Given the description of an element on the screen output the (x, y) to click on. 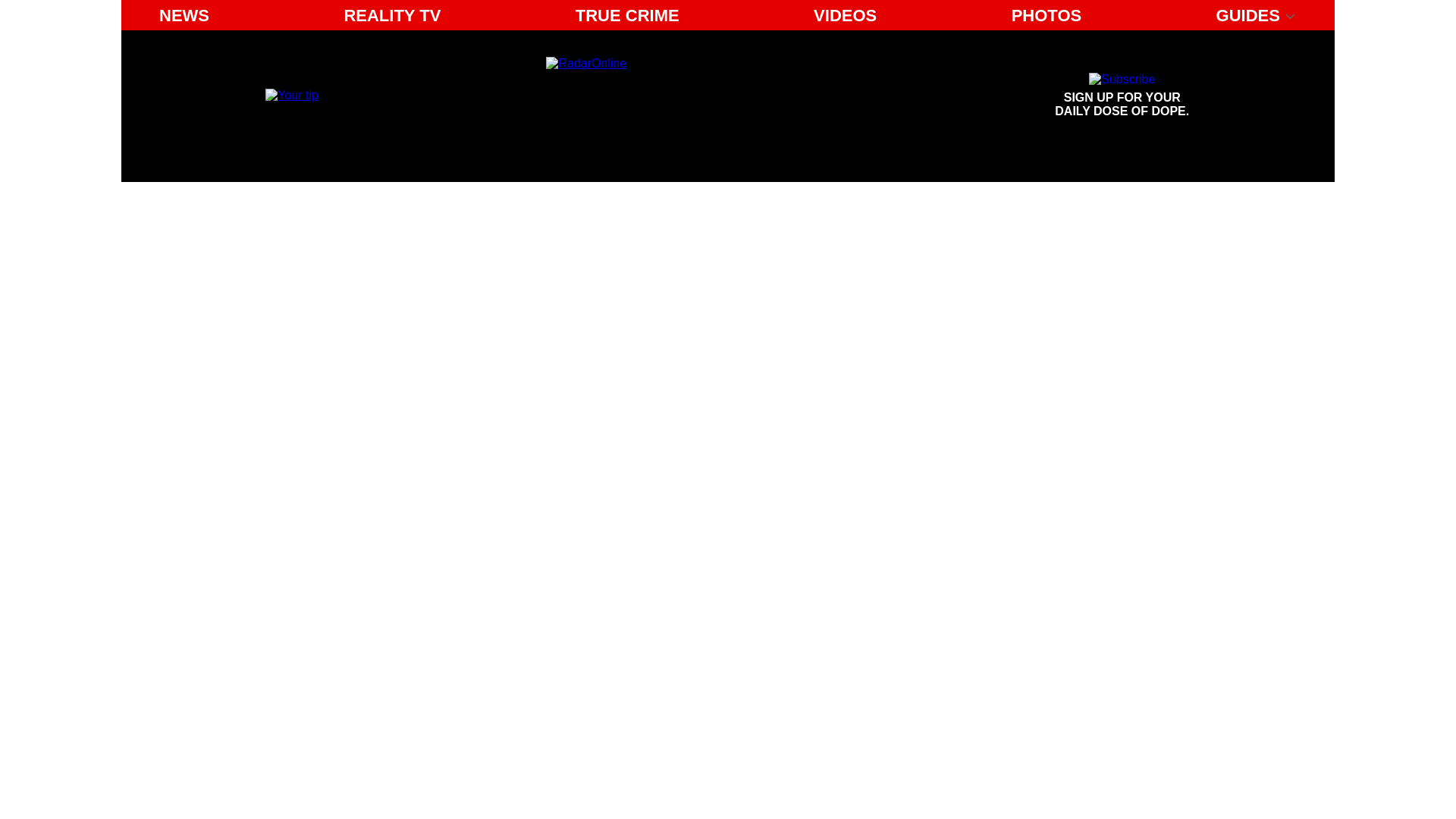
VIDEOS (844, 15)
TRUE CRIME (627, 15)
Sign up for your daily dose of dope. (1122, 94)
Email us your tip (1122, 94)
PHOTOS (291, 94)
NEWS (1046, 15)
REALITY TV (183, 15)
Radar Online (392, 15)
